Given the description of an element on the screen output the (x, y) to click on. 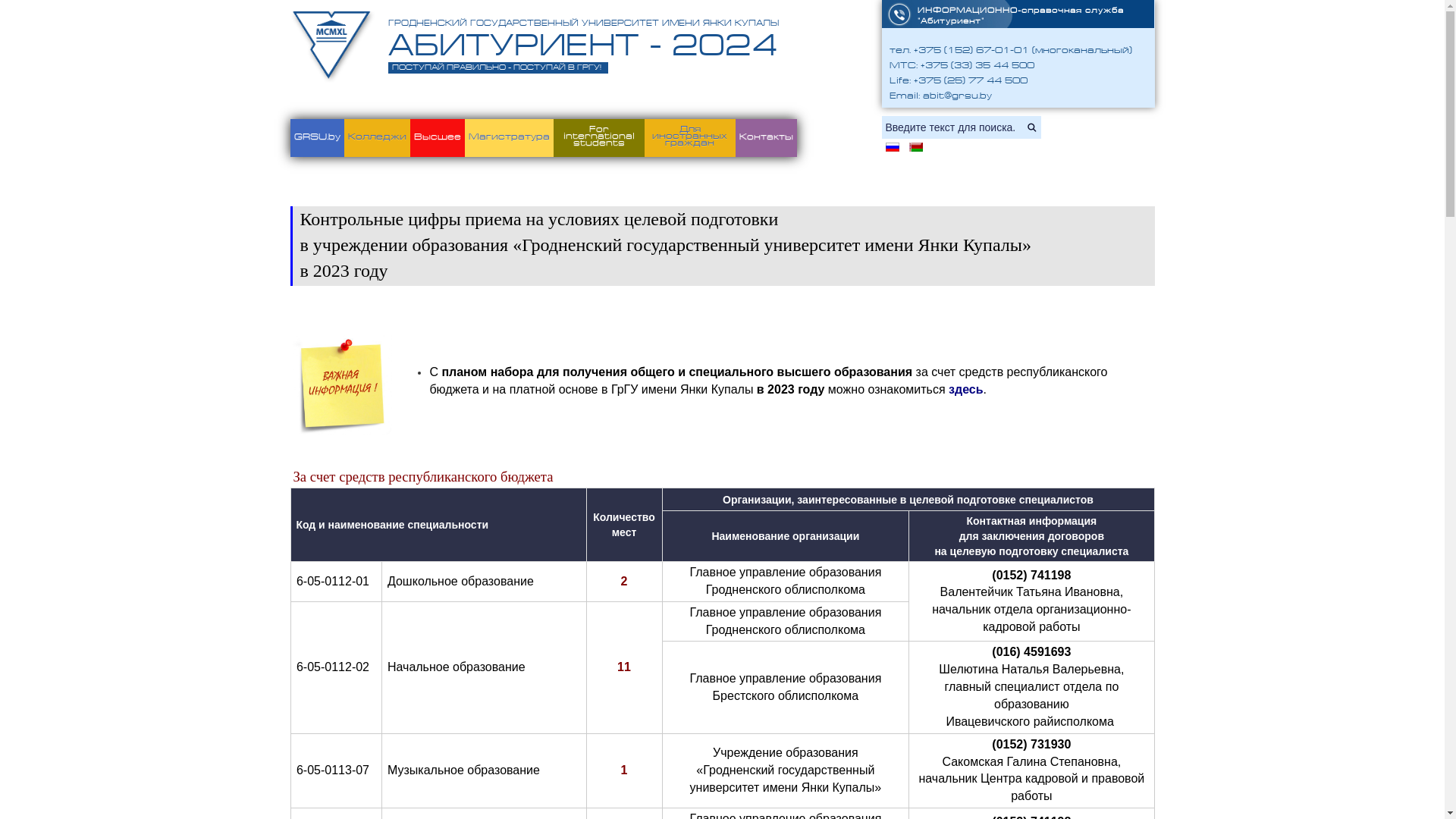
GRSU.by Element type: text (316, 137)
For international students Element type: text (598, 137)
